Given the description of an element on the screen output the (x, y) to click on. 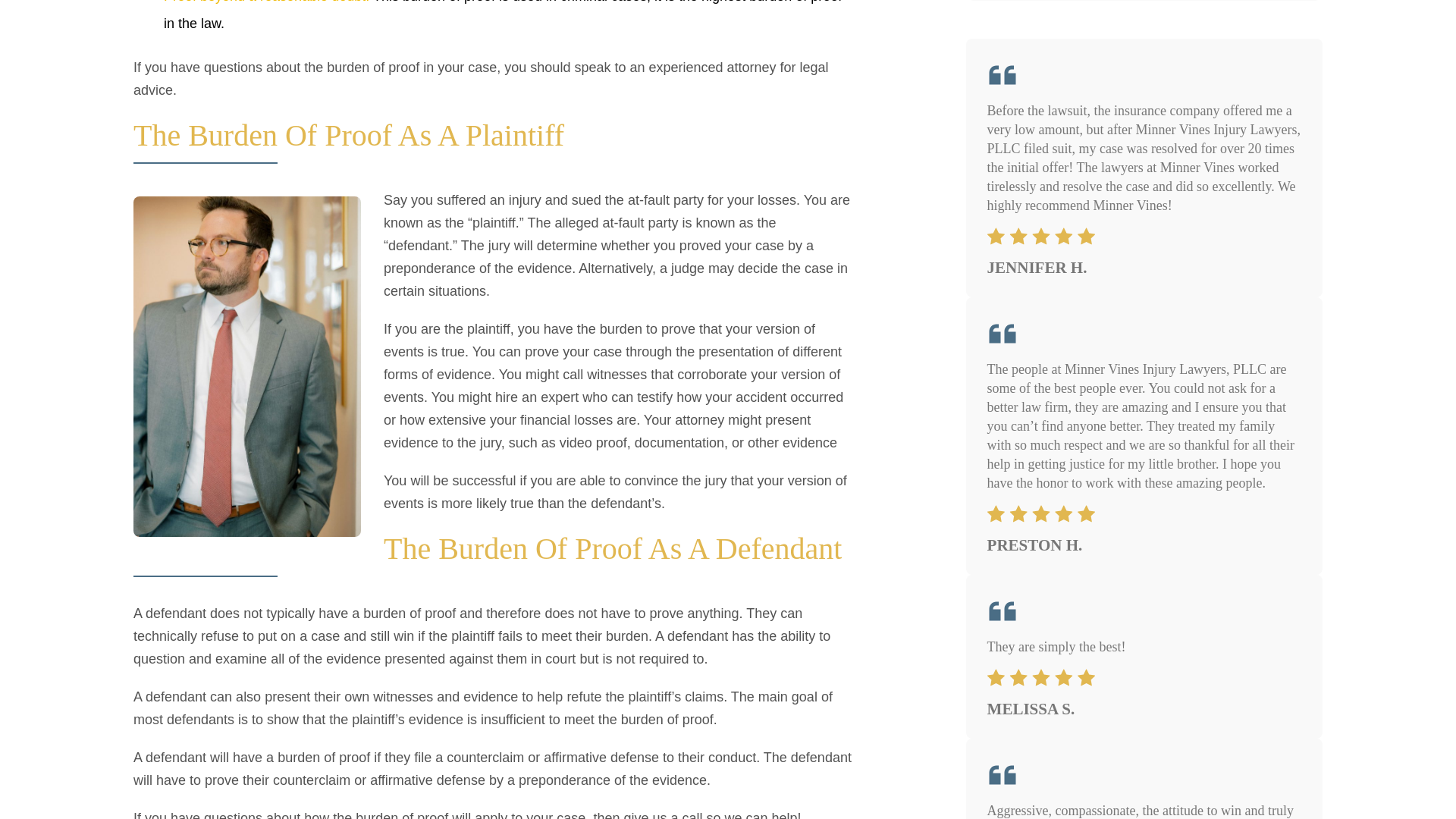
Combined Shape (1040, 513)
Combined Shape (1040, 677)
Combined Shape (1040, 235)
